Given the description of an element on the screen output the (x, y) to click on. 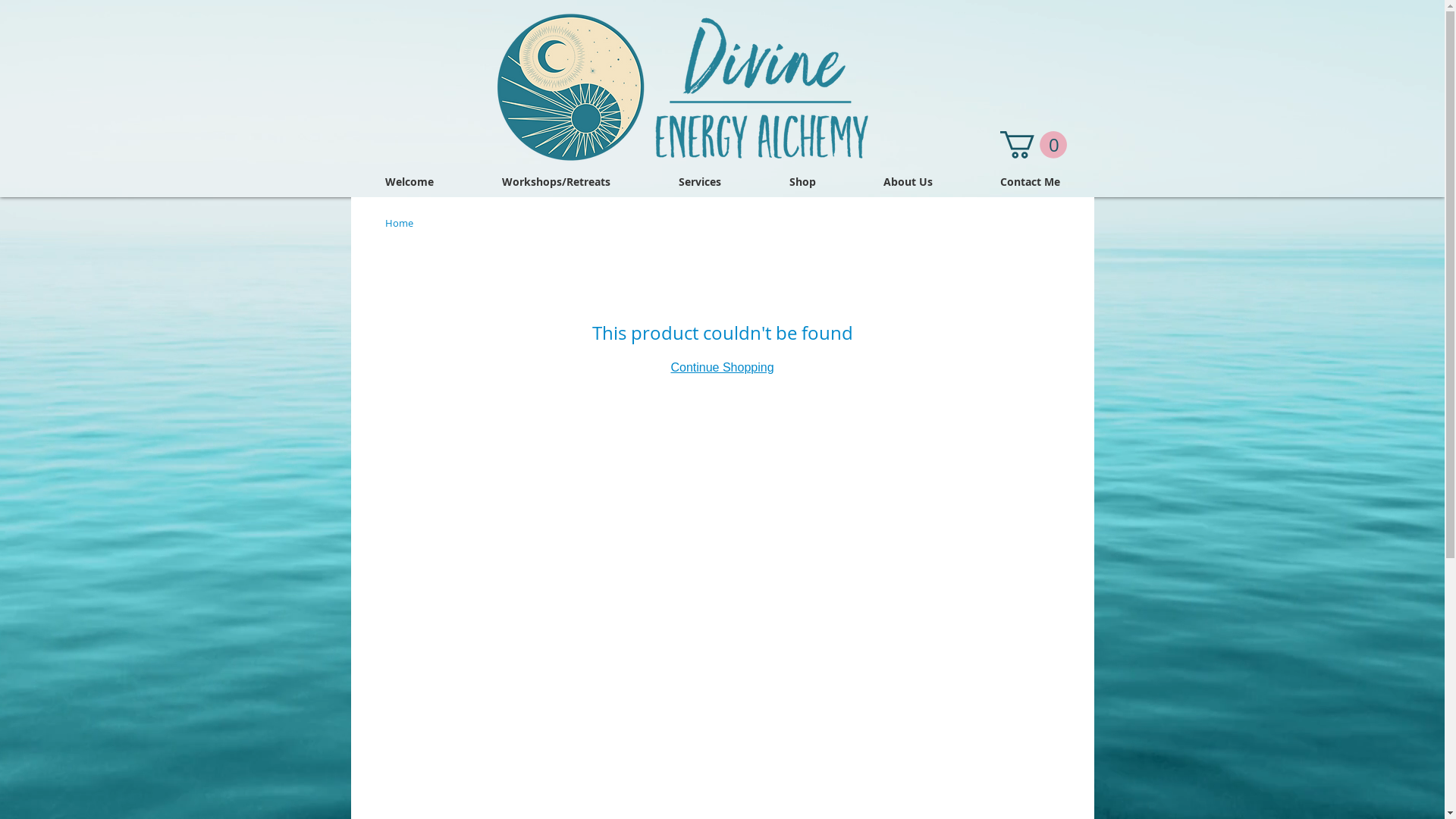
Continue Shopping Element type: text (721, 366)
Services Element type: text (699, 181)
0 Element type: text (1032, 144)
Contact Me Element type: text (1029, 181)
Welcome Element type: text (408, 181)
Home Element type: text (399, 222)
Shop Element type: text (802, 181)
About Us Element type: text (907, 181)
Workshops/Retreats Element type: text (555, 181)
